Given the description of an element on the screen output the (x, y) to click on. 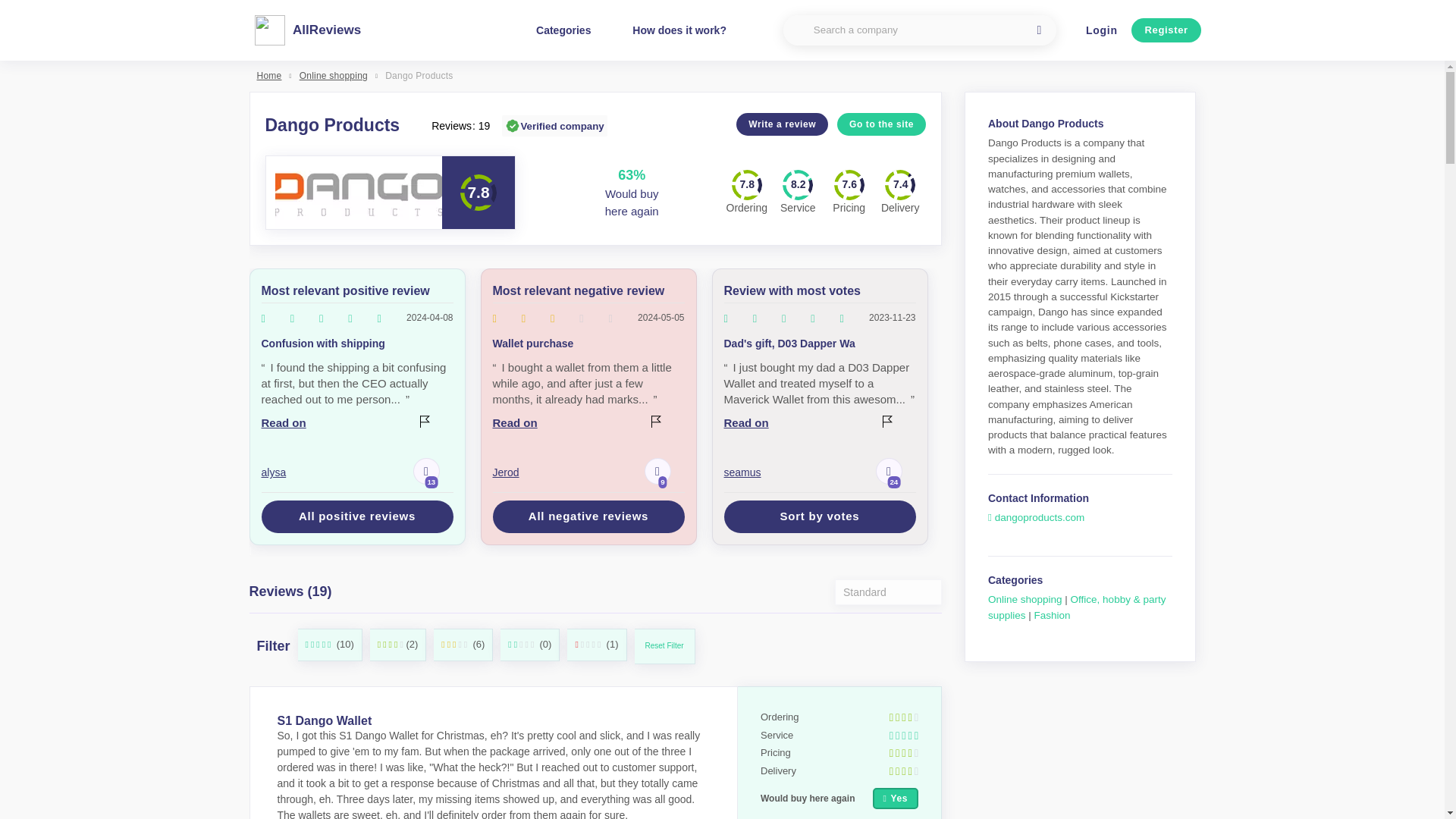
That was helpful (658, 470)
Dango Products (418, 75)
Click to login (1101, 29)
Categories (563, 29)
Write a review (782, 123)
Read on (588, 422)
Read on (356, 422)
Online shopping (1026, 599)
How does it work? (678, 29)
Register (1166, 30)
